Given the description of an element on the screen output the (x, y) to click on. 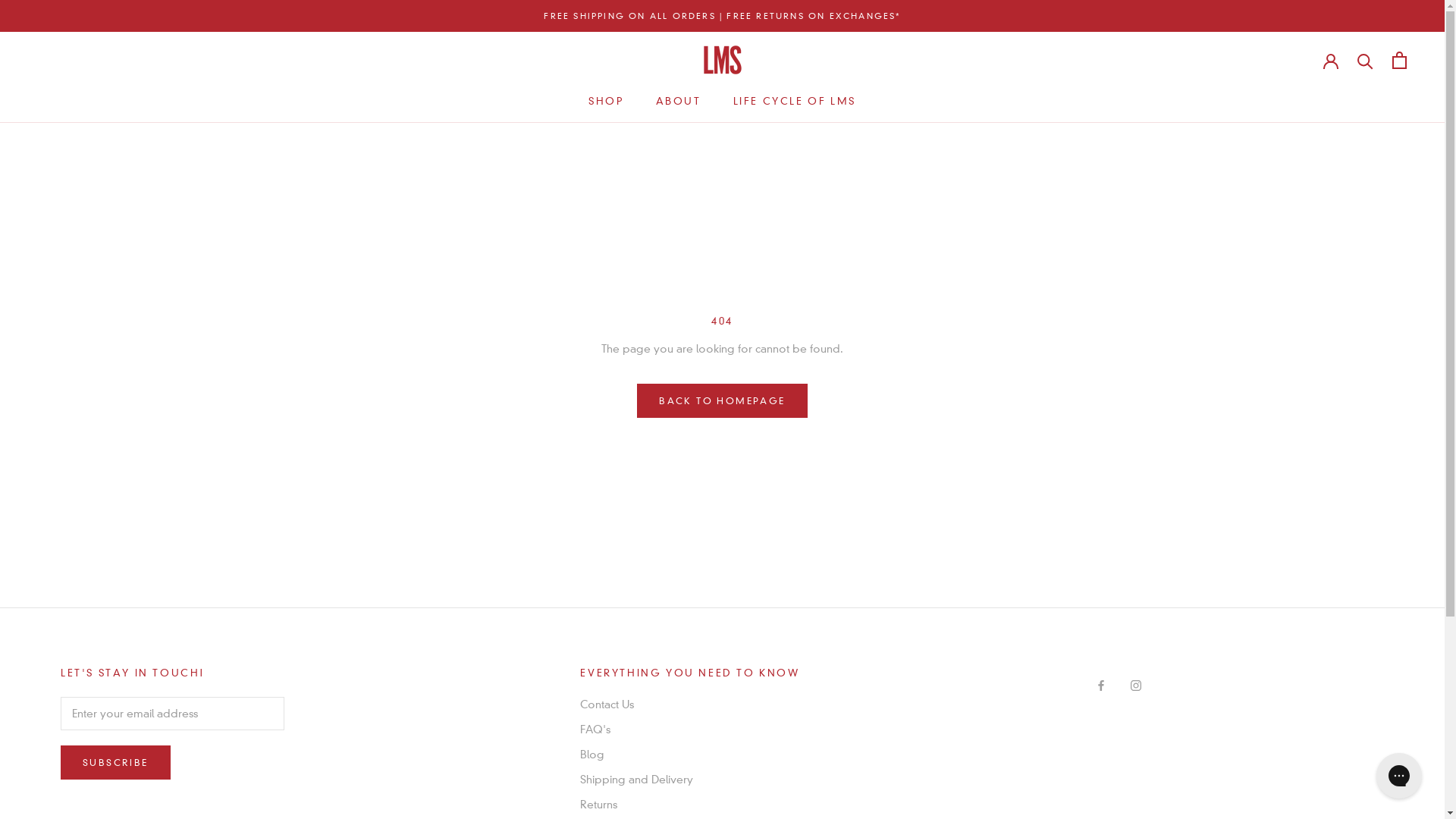
FAQ's Element type: text (689, 729)
ABOUT
ABOUT Element type: text (678, 100)
Gorgias live chat messenger Element type: hover (1398, 775)
FREE SHIPPING ON ALL ORDERS | FREE RETURNS ON EXCHANGES* Element type: text (721, 15)
Shipping and Delivery Element type: text (689, 779)
LIFE CYCLE OF LMS
LIFE CYCLE OF LMS Element type: text (794, 100)
SHOP Element type: text (605, 100)
SUBSCRIBE Element type: text (115, 762)
Contact Us Element type: text (689, 704)
Blog Element type: text (689, 754)
BACK TO HOMEPAGE Element type: text (721, 400)
Returns Element type: text (689, 804)
